Given the description of an element on the screen output the (x, y) to click on. 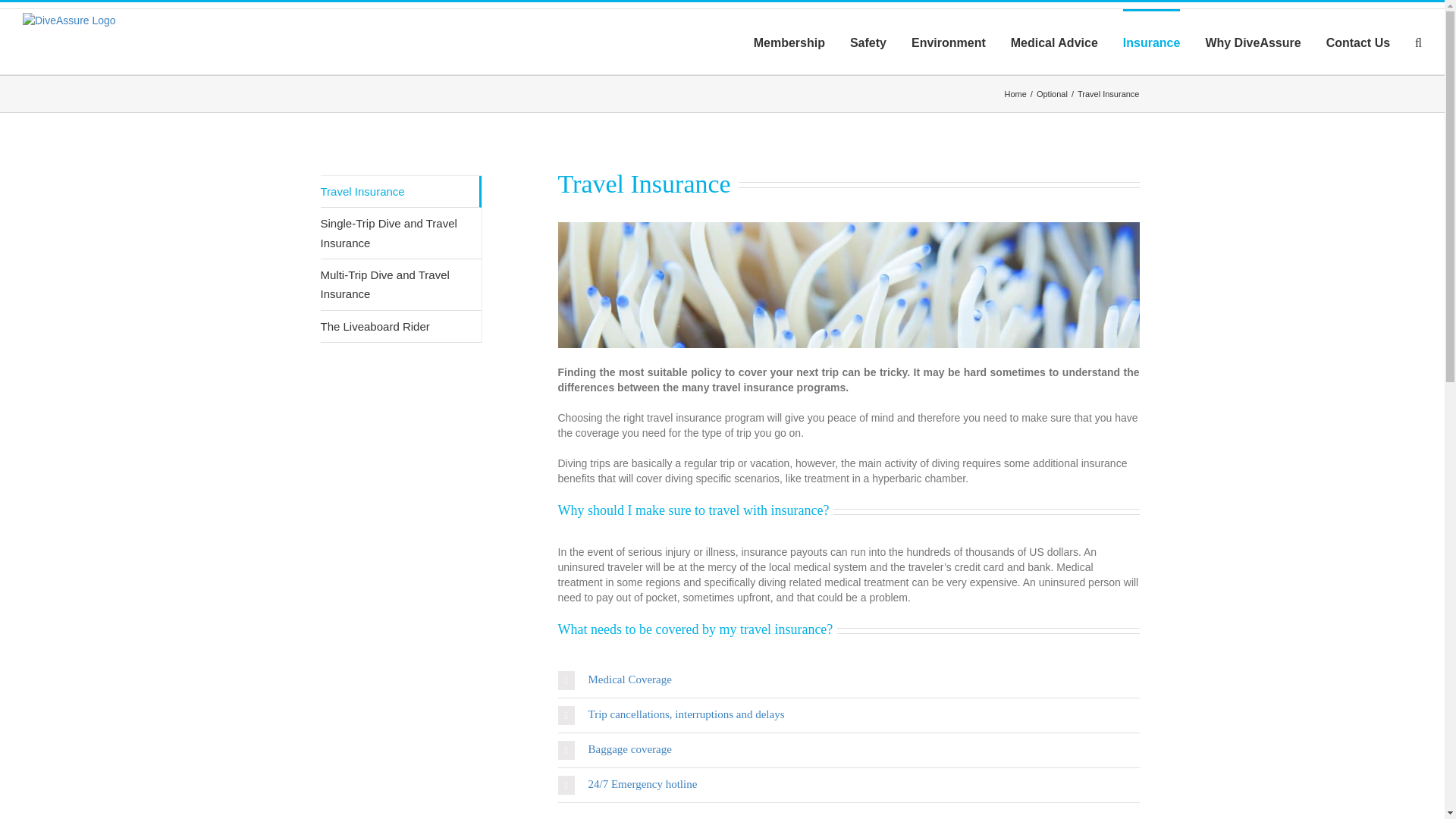
Contact Us (1358, 41)
Environment (948, 41)
Membership (789, 41)
Back to Parent Page (400, 192)
Why DiveAssure (1252, 41)
Medical Advice (1053, 41)
